Given the description of an element on the screen output the (x, y) to click on. 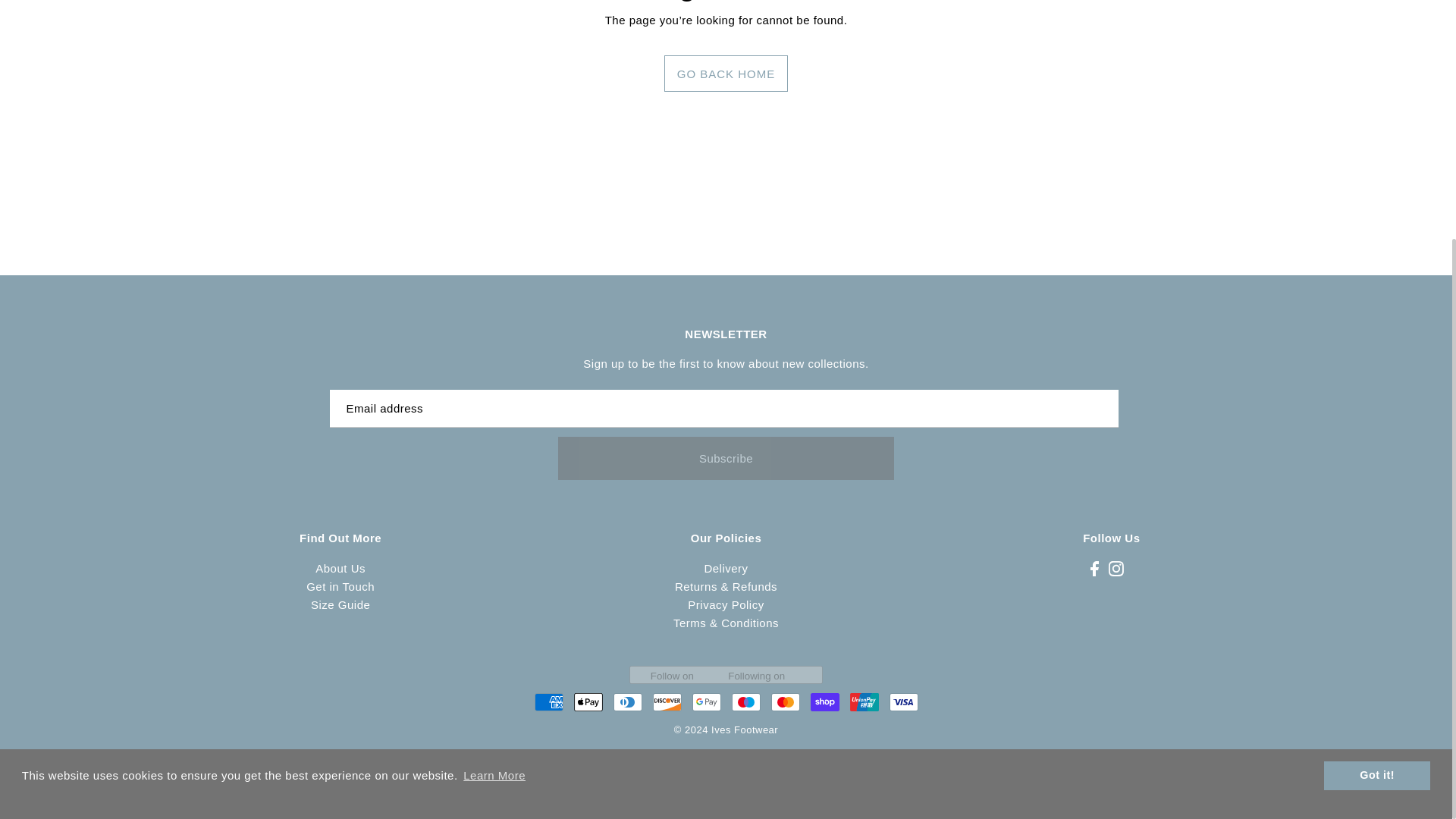
Discover (666, 701)
Union Pay (862, 701)
Learn More (494, 439)
Visa (902, 701)
Shop Pay (823, 701)
American Express (548, 701)
Google Pay (705, 701)
Got it! (1376, 438)
Mastercard (784, 701)
Modular Commerce (726, 762)
Maestro (745, 701)
Diners Club (627, 701)
Apple Pay (587, 701)
